Given the description of an element on the screen output the (x, y) to click on. 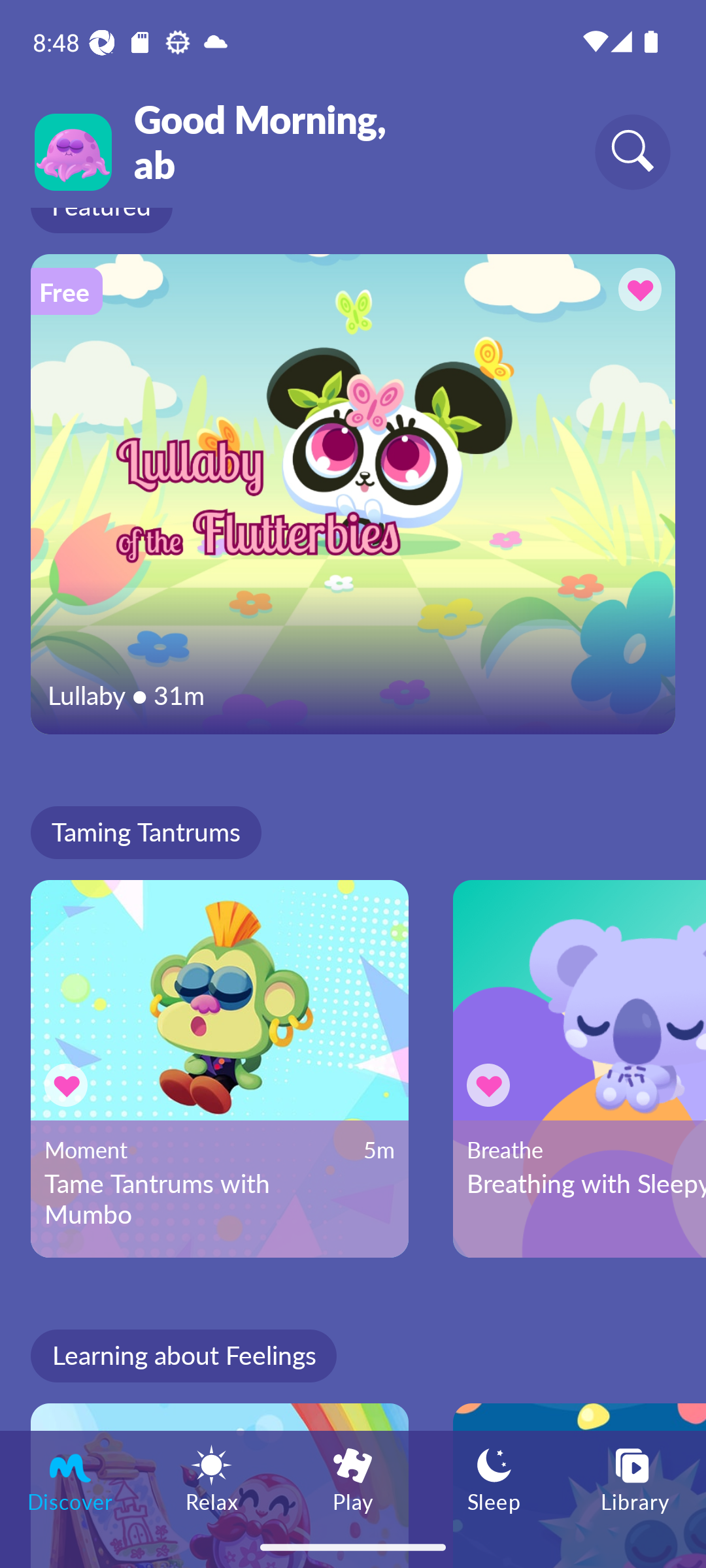
Search (632, 151)
Featured Content Free Button Lullaby ● 31m (352, 493)
Button (636, 292)
Button (69, 1084)
Button (491, 1084)
Relax (211, 1478)
Play (352, 1478)
Sleep (493, 1478)
Library (635, 1478)
